Given the description of an element on the screen output the (x, y) to click on. 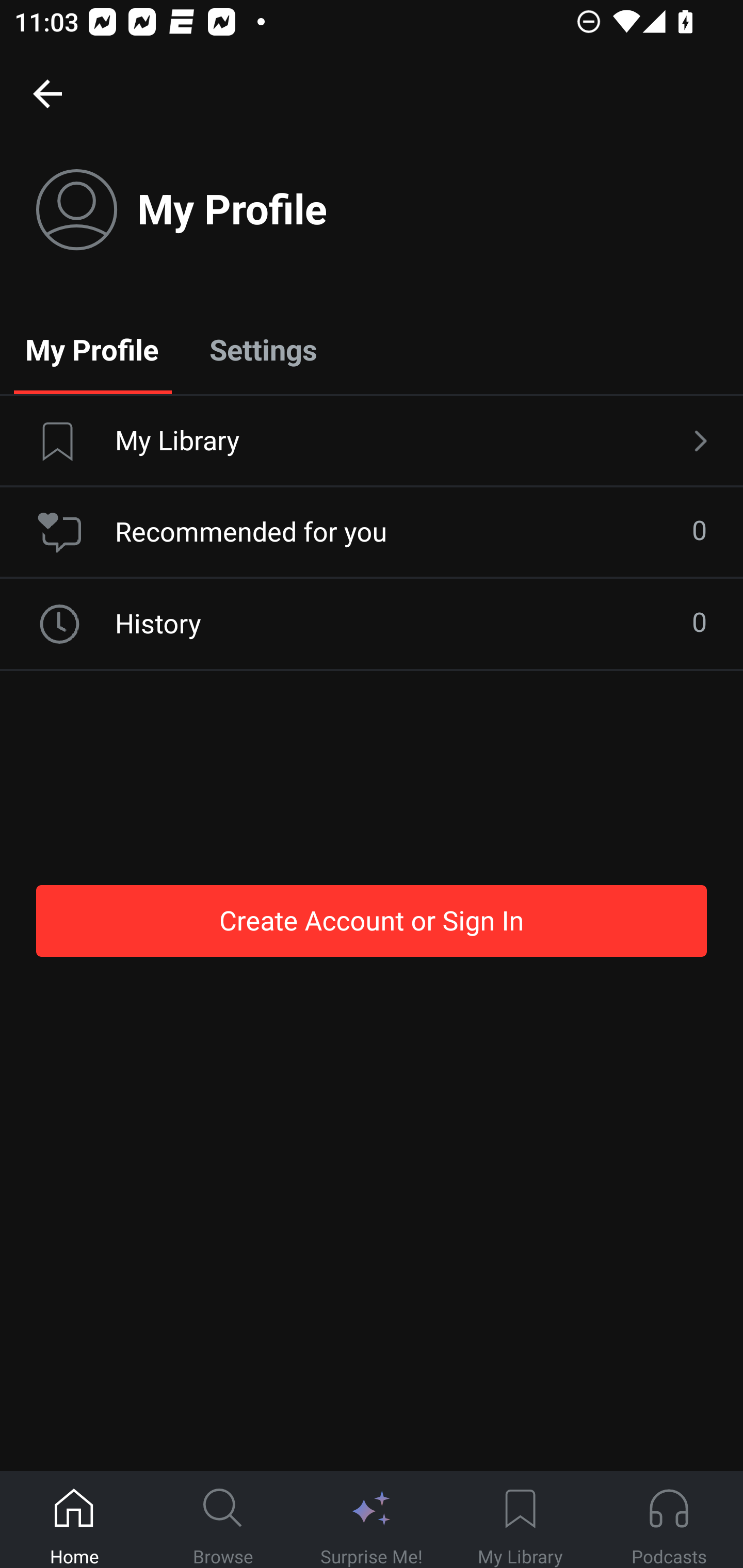
Home, back (47, 92)
My Profile (92, 348)
Settings (263, 348)
My Library (371, 441)
Recommended for you 0 (371, 532)
History 0 (371, 623)
Create Account or Sign In (371, 920)
Home (74, 1520)
Browse (222, 1520)
Surprise Me! (371, 1520)
My Library (519, 1520)
Podcasts (668, 1520)
